Given the description of an element on the screen output the (x, y) to click on. 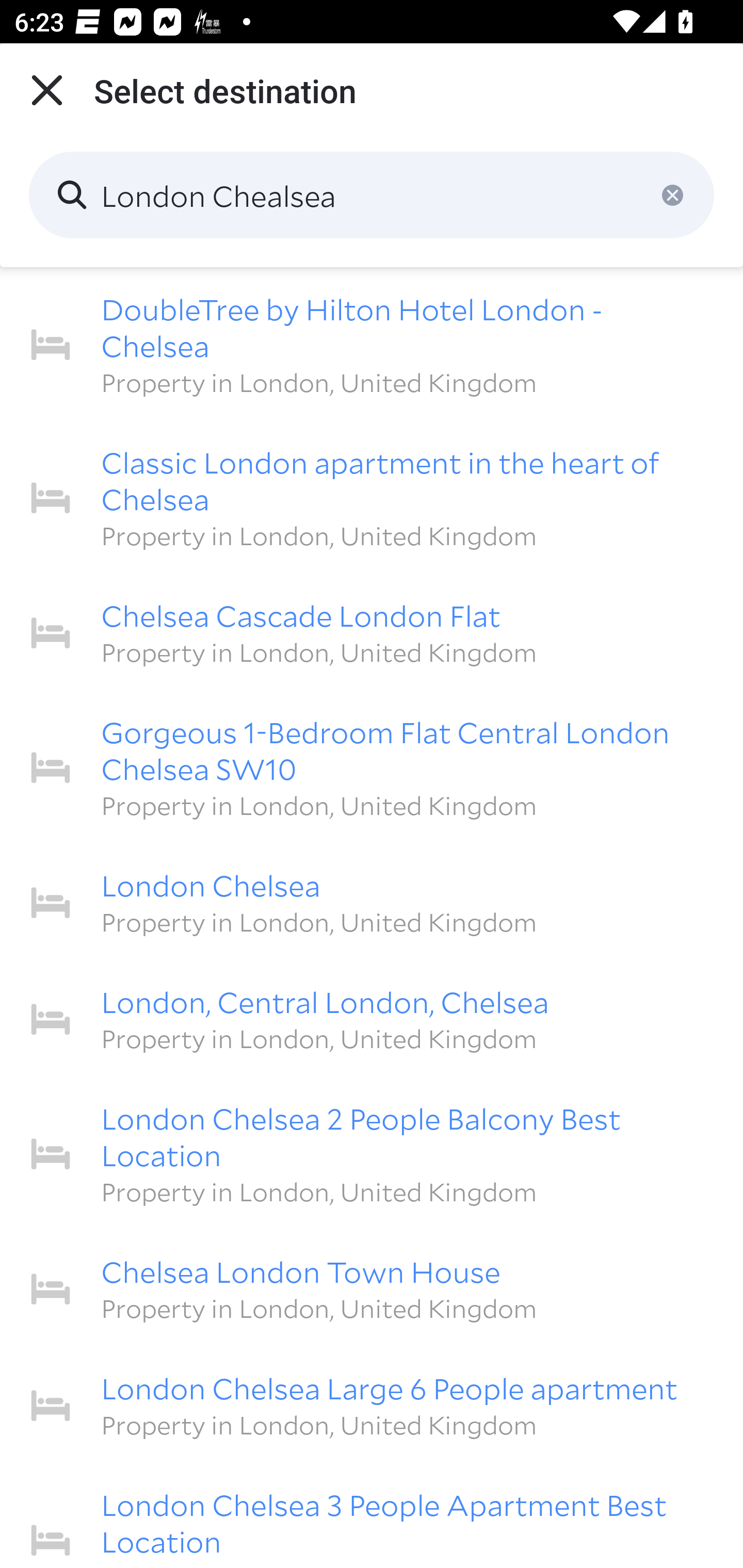
London Chealsea (371, 195)
London Chelsea Property in London, United Kingdom (371, 901)
